Given the description of an element on the screen output the (x, y) to click on. 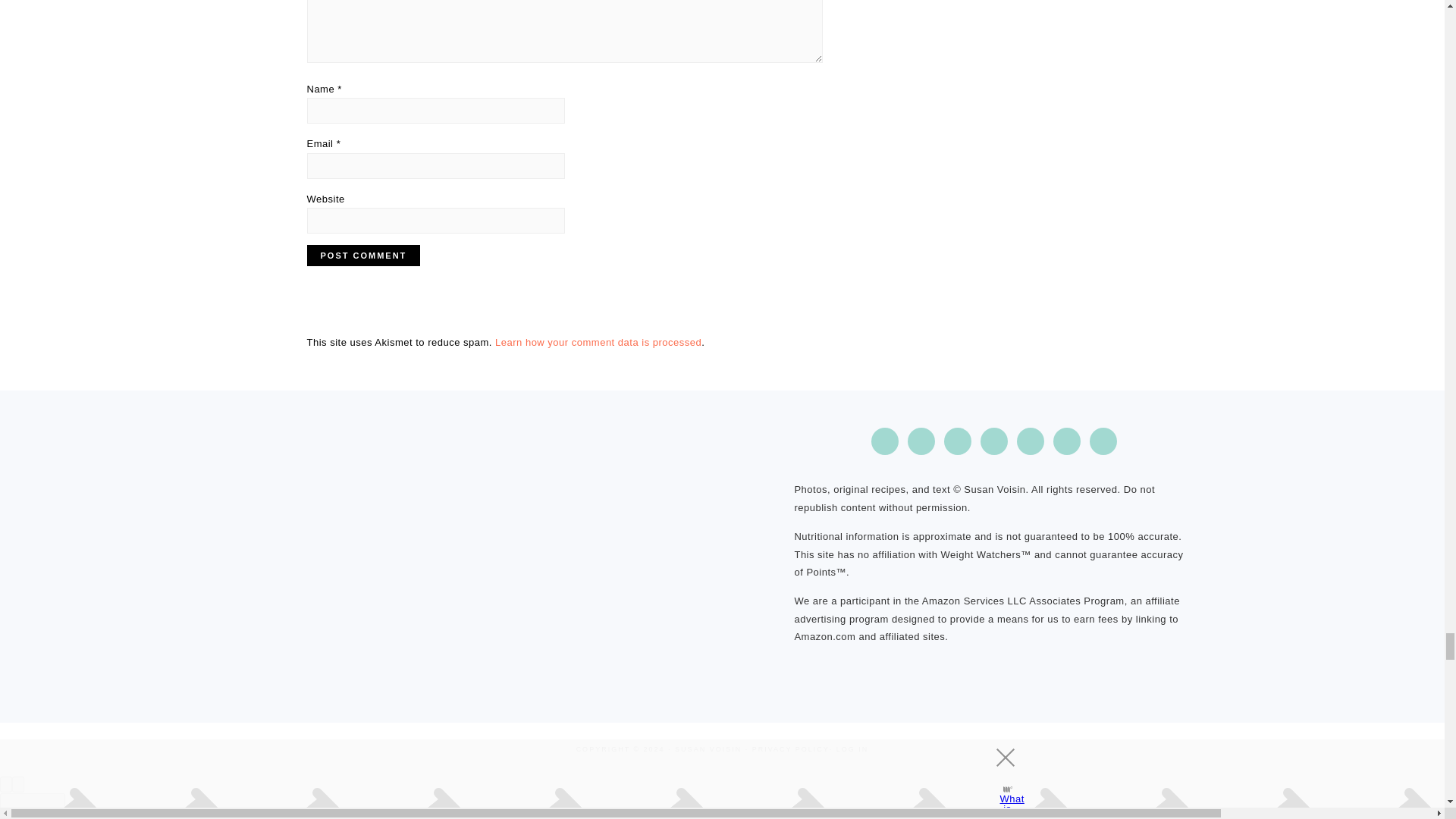
Post Comment (362, 255)
